Given the description of an element on the screen output the (x, y) to click on. 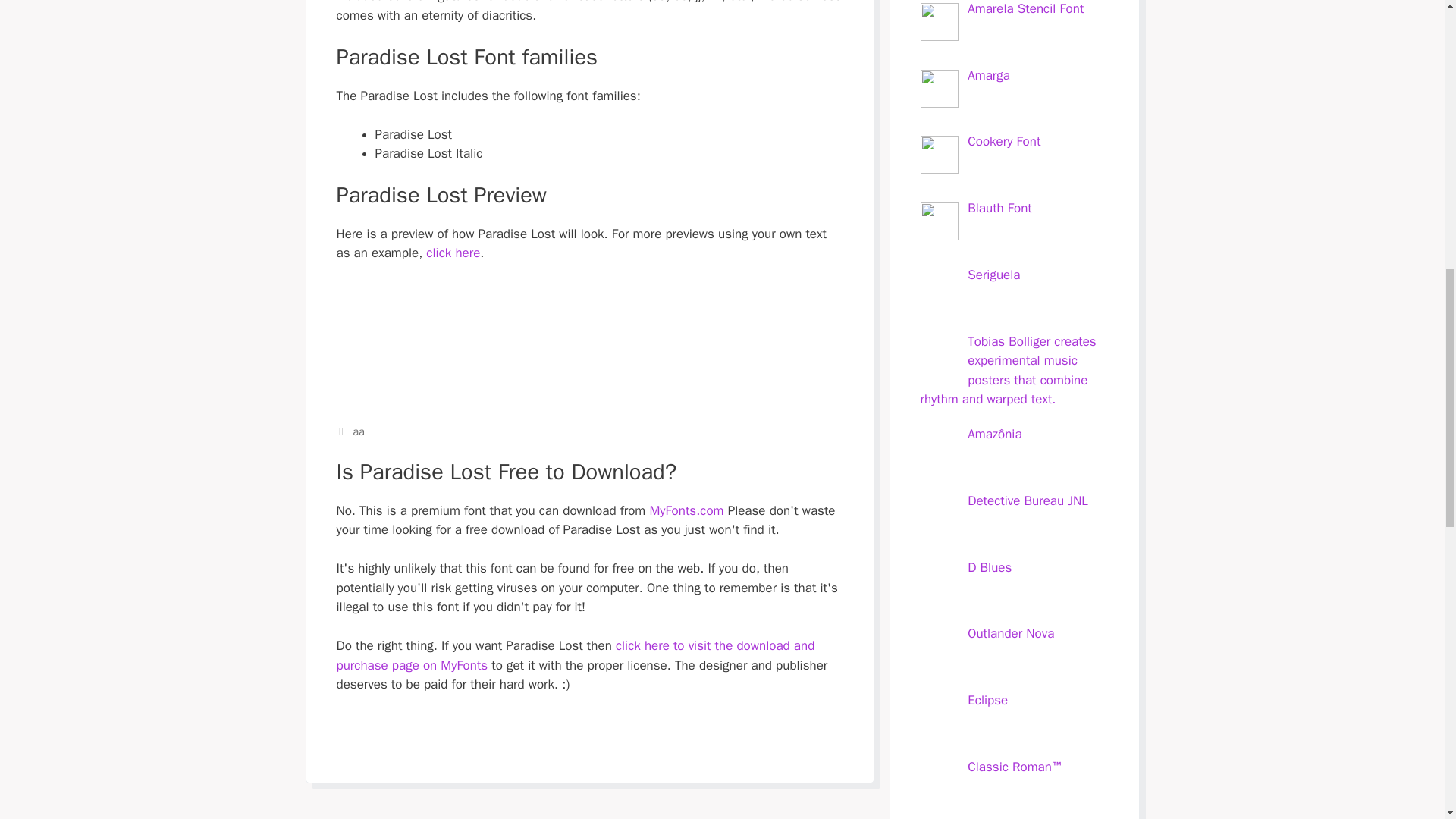
Cookery Font (1004, 141)
Eclipse (987, 700)
Blauth Font (1000, 207)
Seriguela (994, 274)
Detective Bureau JNL (1027, 500)
Amarela Stencil Font (1025, 8)
Amarga (989, 74)
Outlander Nova (1011, 633)
